Given the description of an element on the screen output the (x, y) to click on. 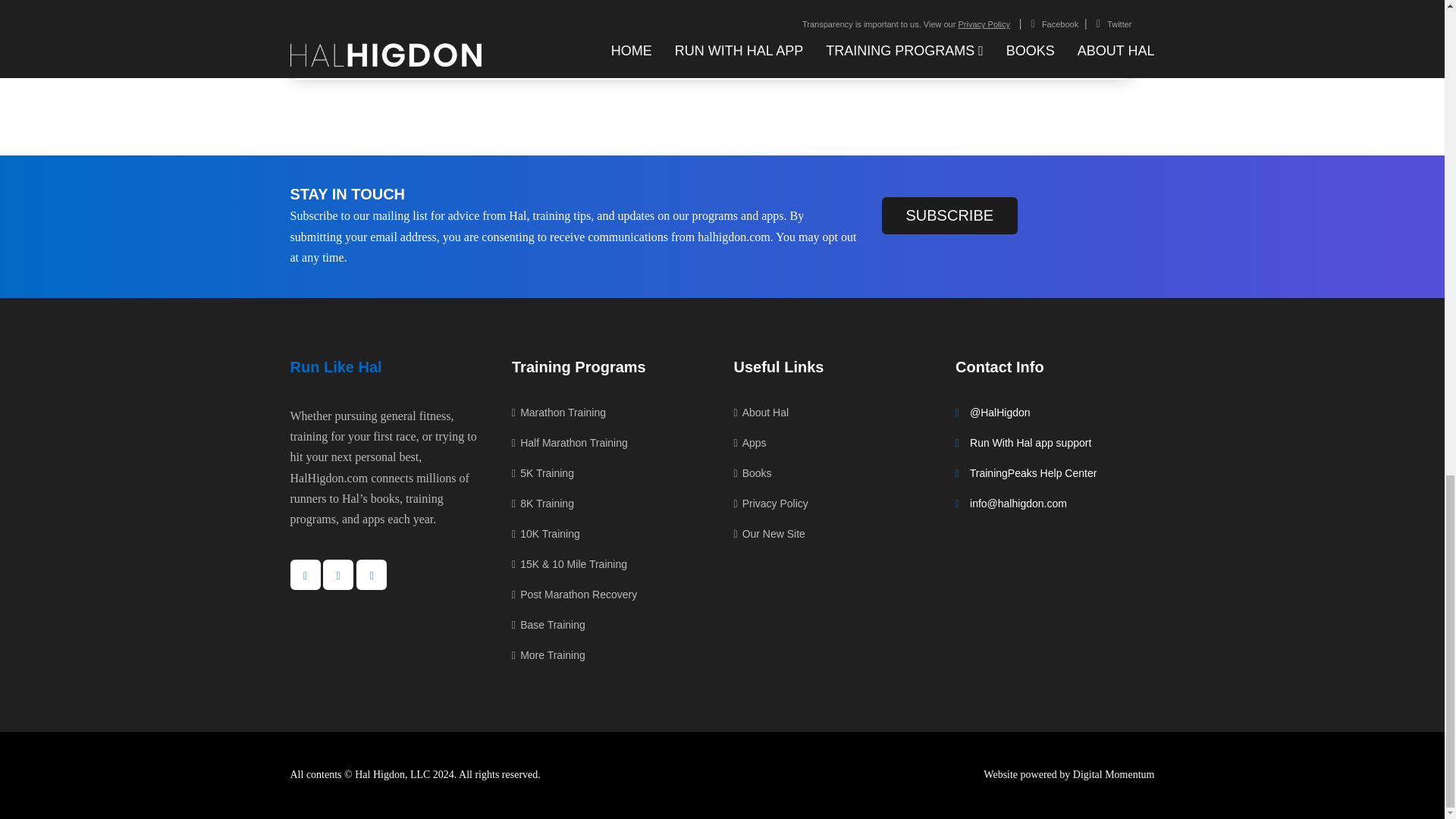
Subscribe (948, 215)
Walkers (355, 6)
Subscribe (948, 215)
Marathon Training (558, 416)
Half Marathon Training (569, 443)
